Given the description of an element on the screen output the (x, y) to click on. 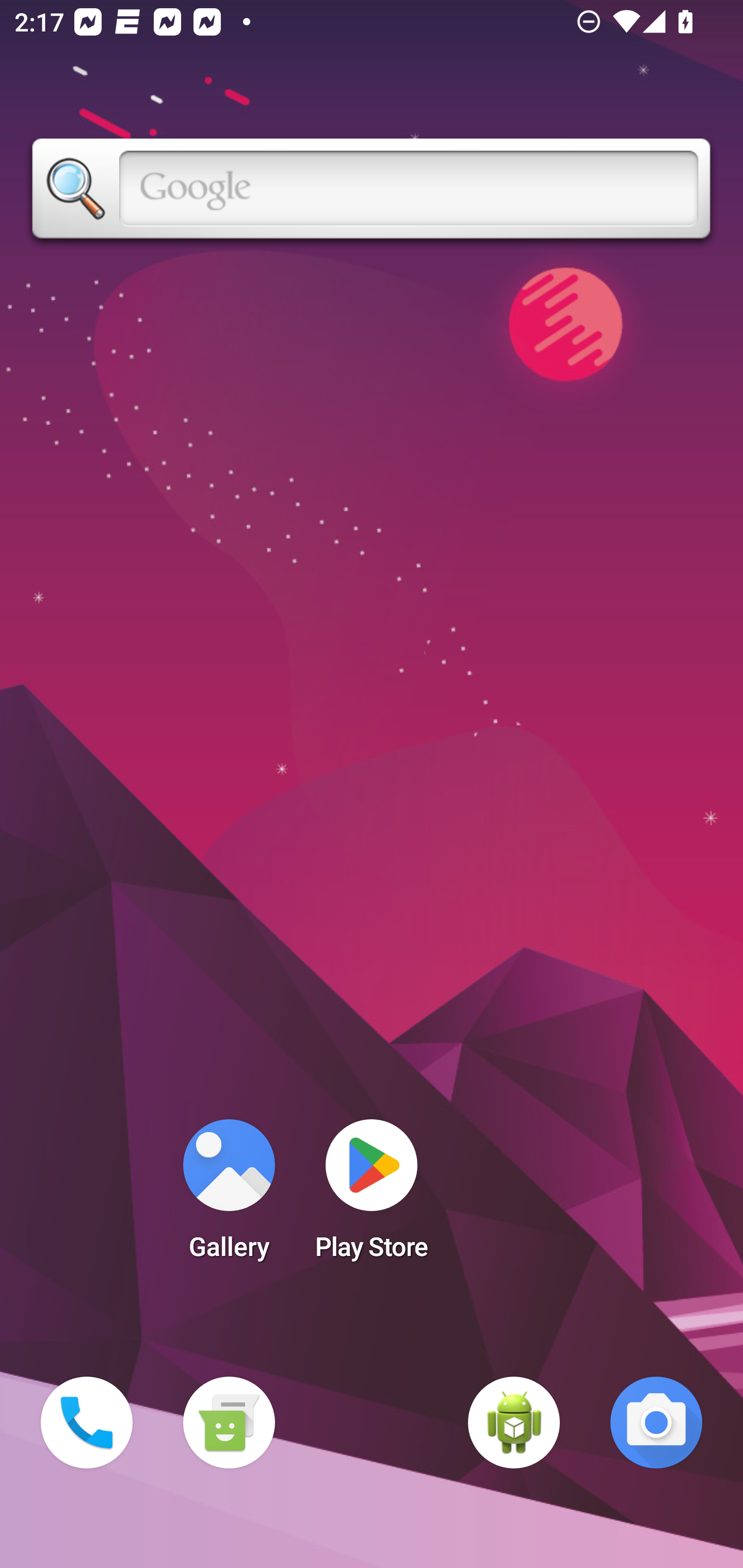
Gallery (228, 1195)
Play Store (371, 1195)
Phone (86, 1422)
Messaging (228, 1422)
WebView Browser Tester (513, 1422)
Camera (656, 1422)
